Given the description of an element on the screen output the (x, y) to click on. 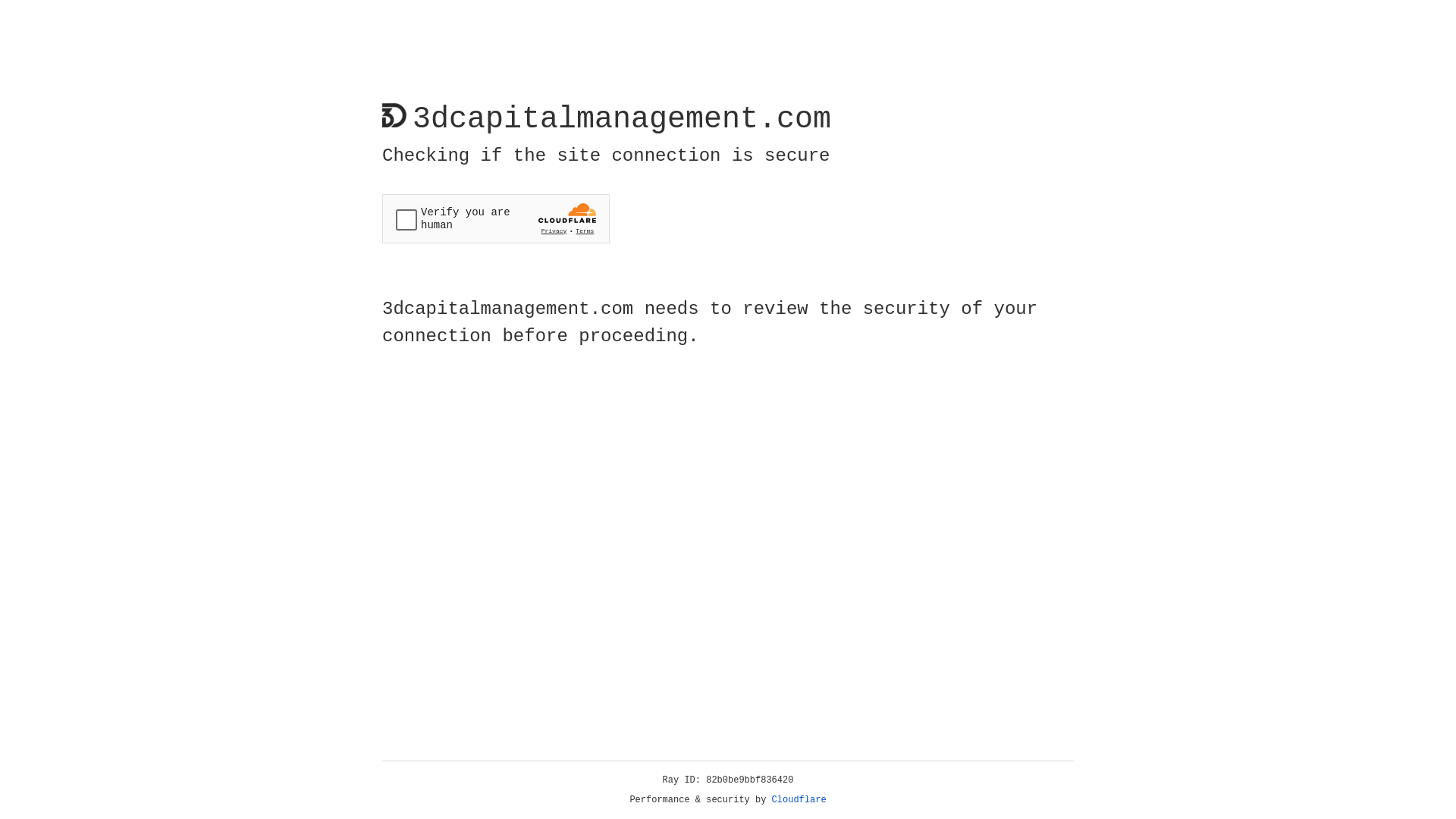
Widget containing a Cloudflare security challenge Element type: hover (495, 218)
Cloudflare Element type: text (798, 799)
